Given the description of an element on the screen output the (x, y) to click on. 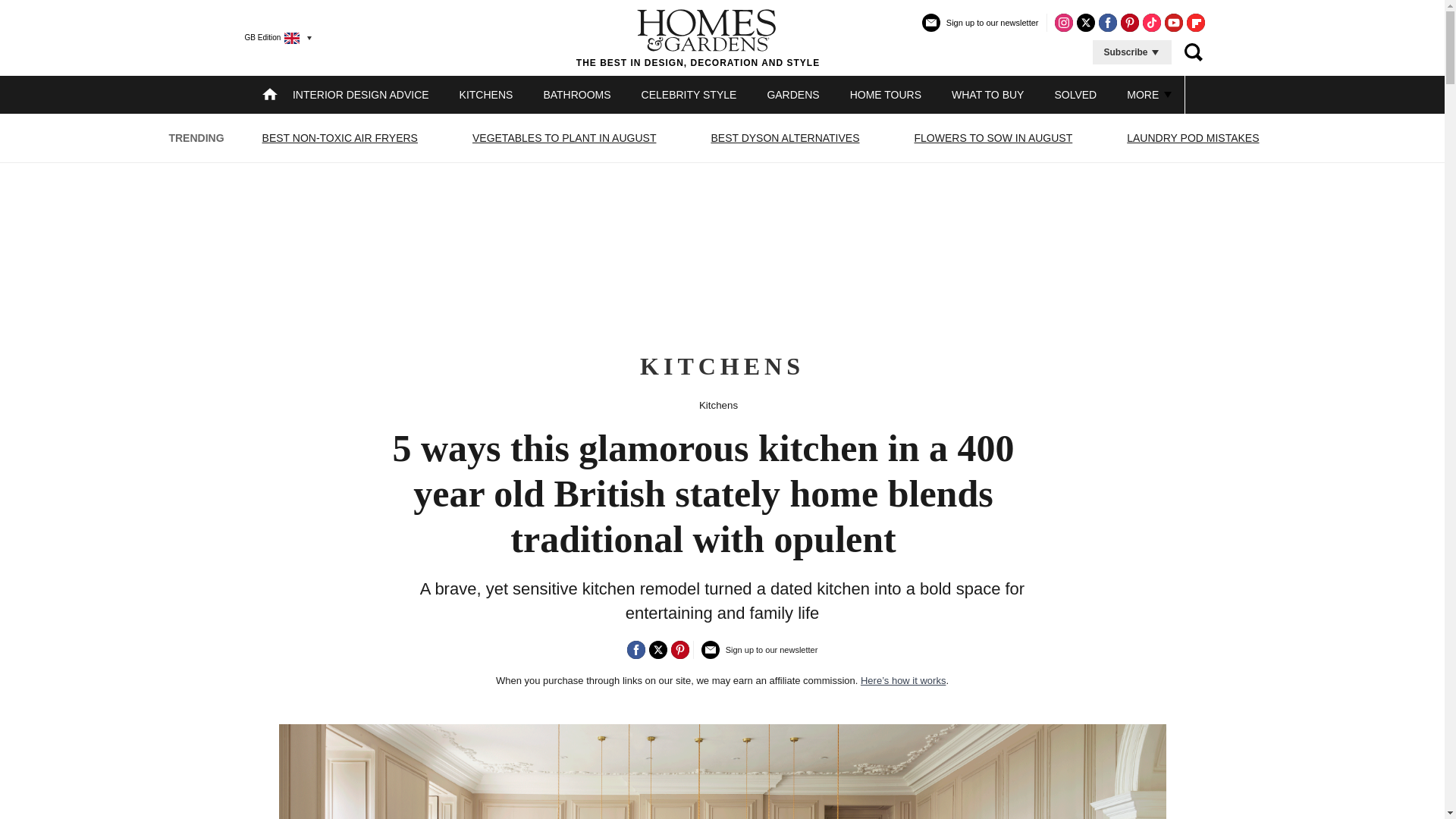
VEGETABLES TO PLANT IN AUGUST (564, 137)
THE BEST IN DESIGN, DECORATION AND STYLE (697, 37)
Kitchens (718, 405)
CELEBRITY STYLE (689, 94)
SOLVED (1075, 94)
BEST NON-TOXIC AIR FRYERS (340, 137)
WHAT TO BUY (987, 94)
BATHROOMS (576, 94)
KITCHENS (486, 94)
BEST DYSON ALTERNATIVES (784, 137)
